Given the description of an element on the screen output the (x, y) to click on. 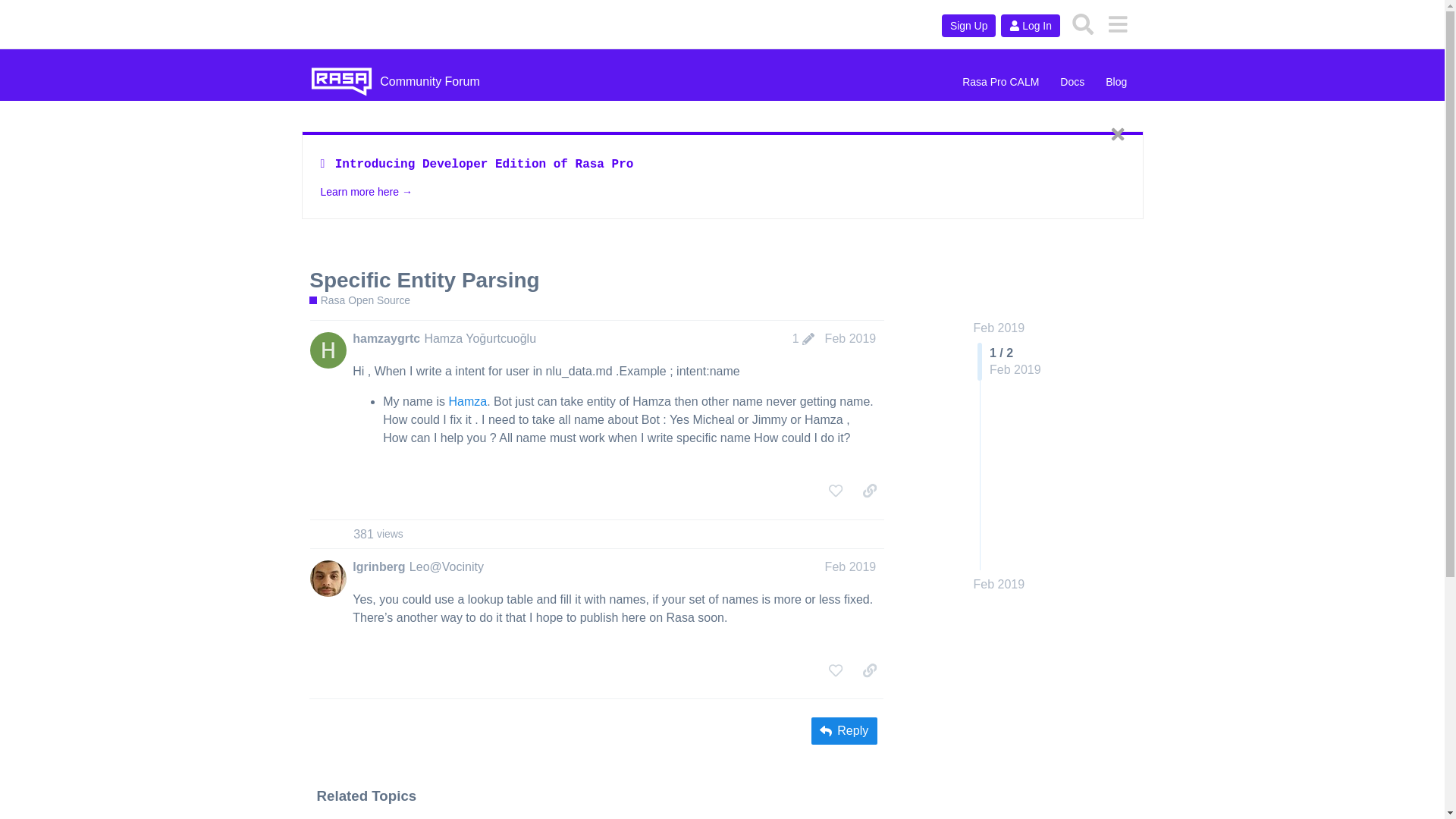
Rasa Pro CALM (1000, 81)
like this post (835, 670)
Feb 2019 (850, 566)
1 (377, 534)
hamzaygrtc (802, 338)
Jump to the last post (386, 338)
post last edited on Feb 7, 2019 6:50 pm (999, 584)
Sign Up (802, 338)
Search (968, 25)
Docs (1082, 23)
Reply (1072, 81)
Log In (843, 730)
Post date (1030, 25)
